Given the description of an element on the screen output the (x, y) to click on. 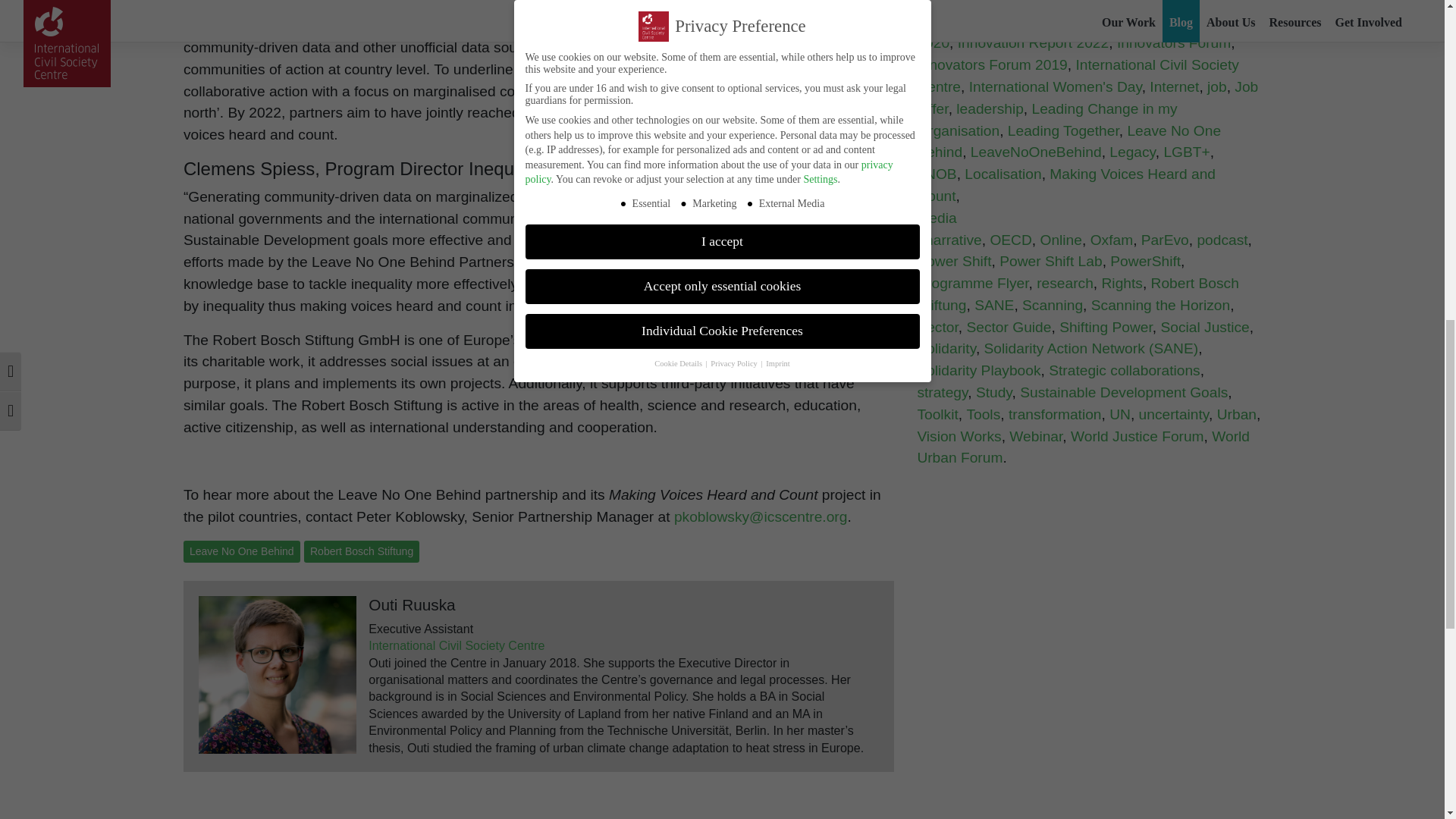
Robert Bosch Stiftung (361, 551)
International Civil Society Centre (456, 645)
Leave No One Behind (241, 551)
